Given the description of an element on the screen output the (x, y) to click on. 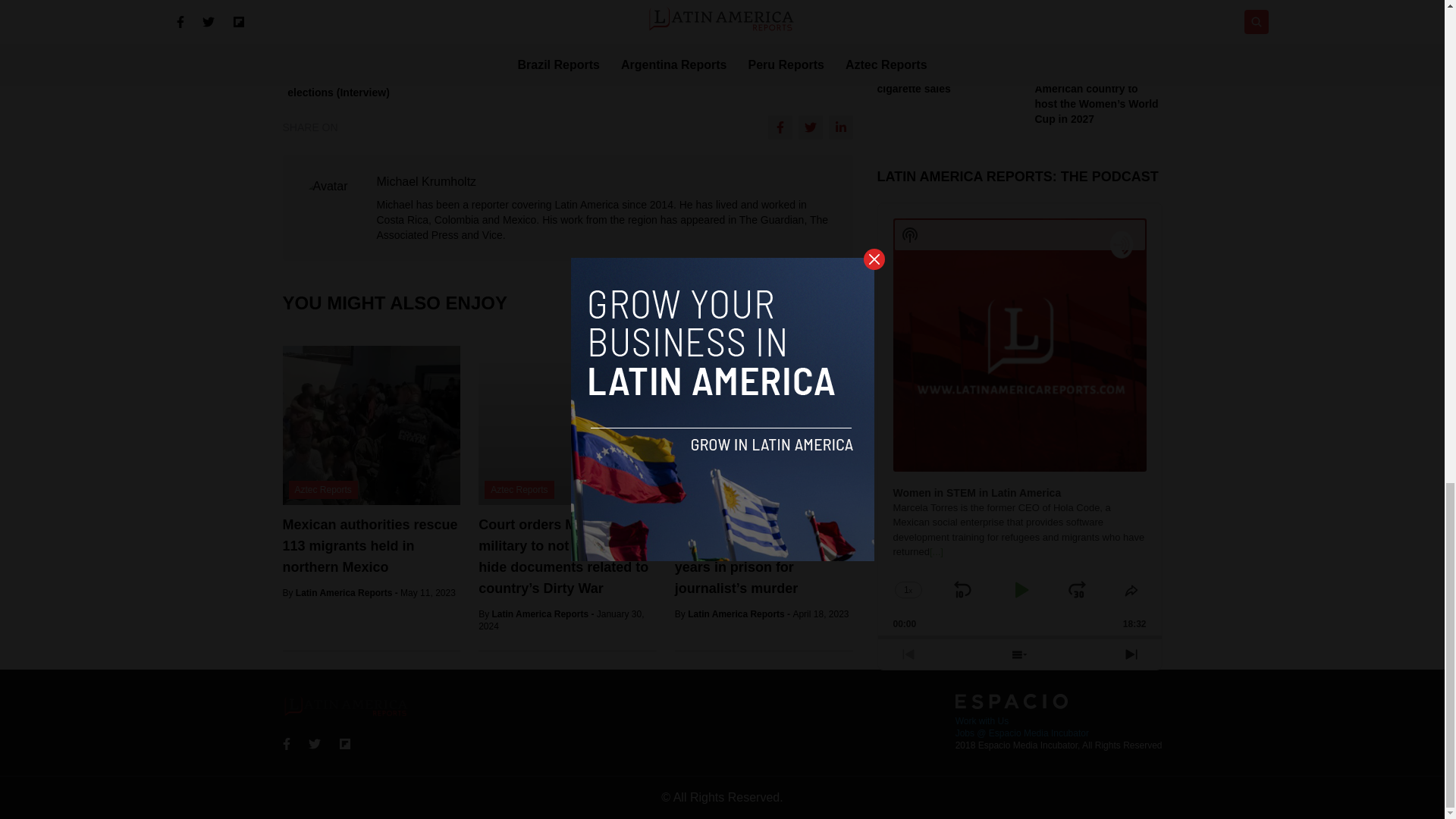
Latin America Reports - (543, 614)
Aztec Reports (518, 489)
0 (1019, 178)
Aztec Reports (322, 489)
Latin America Reports - (347, 593)
